Given the description of an element on the screen output the (x, y) to click on. 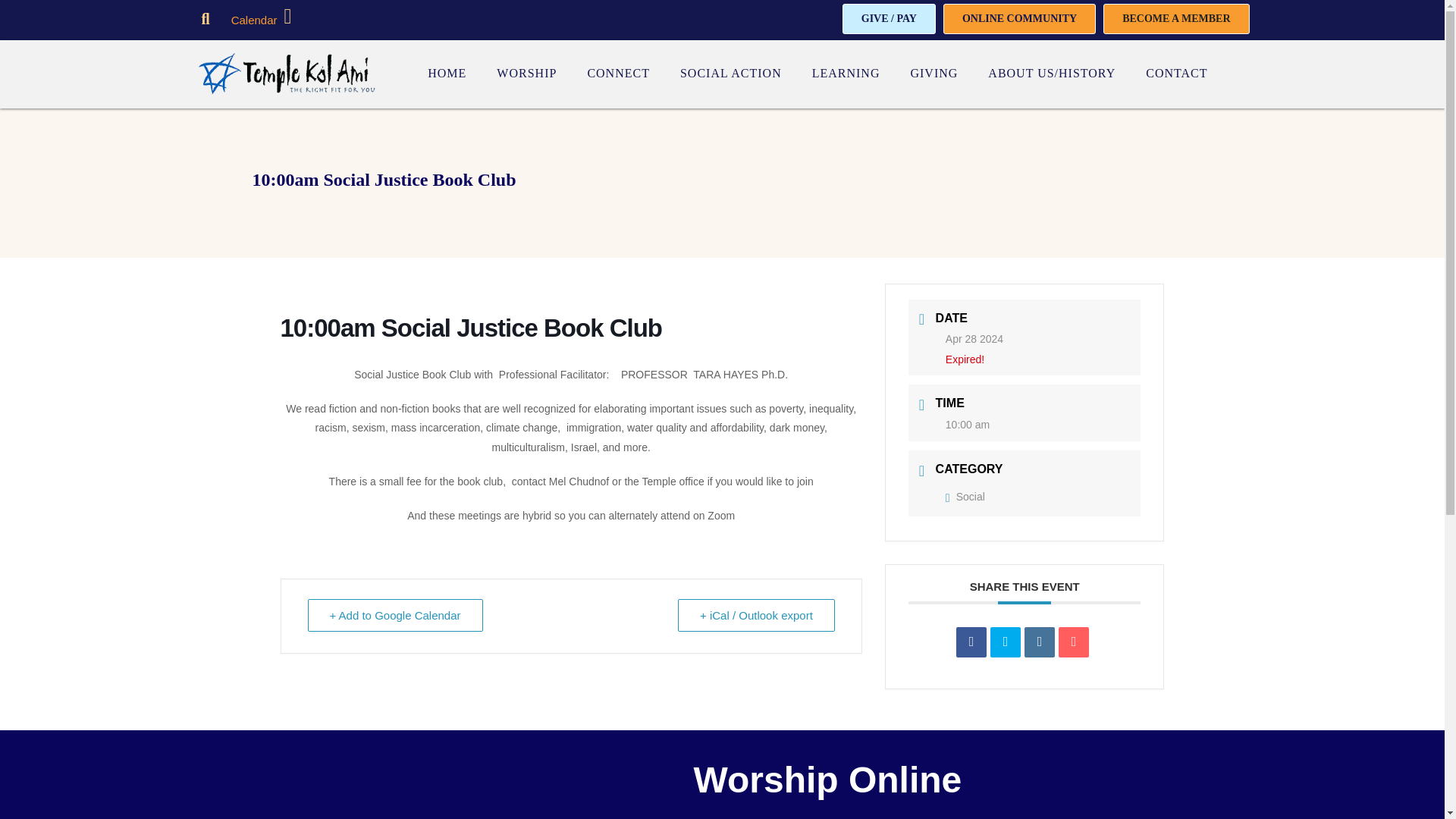
SOCIAL ACTION (731, 74)
Share on Facebook (971, 642)
Email (1073, 642)
CONTACT (1176, 74)
LEARNING (845, 74)
GIVING (932, 74)
HOME (446, 74)
CONNECT (618, 74)
Linkedin (1039, 642)
Tweet (1005, 642)
Calendar (254, 19)
BECOME A MEMBER (1176, 19)
WORSHIP (526, 74)
ONLINE COMMUNITY (1019, 19)
